Given the description of an element on the screen output the (x, y) to click on. 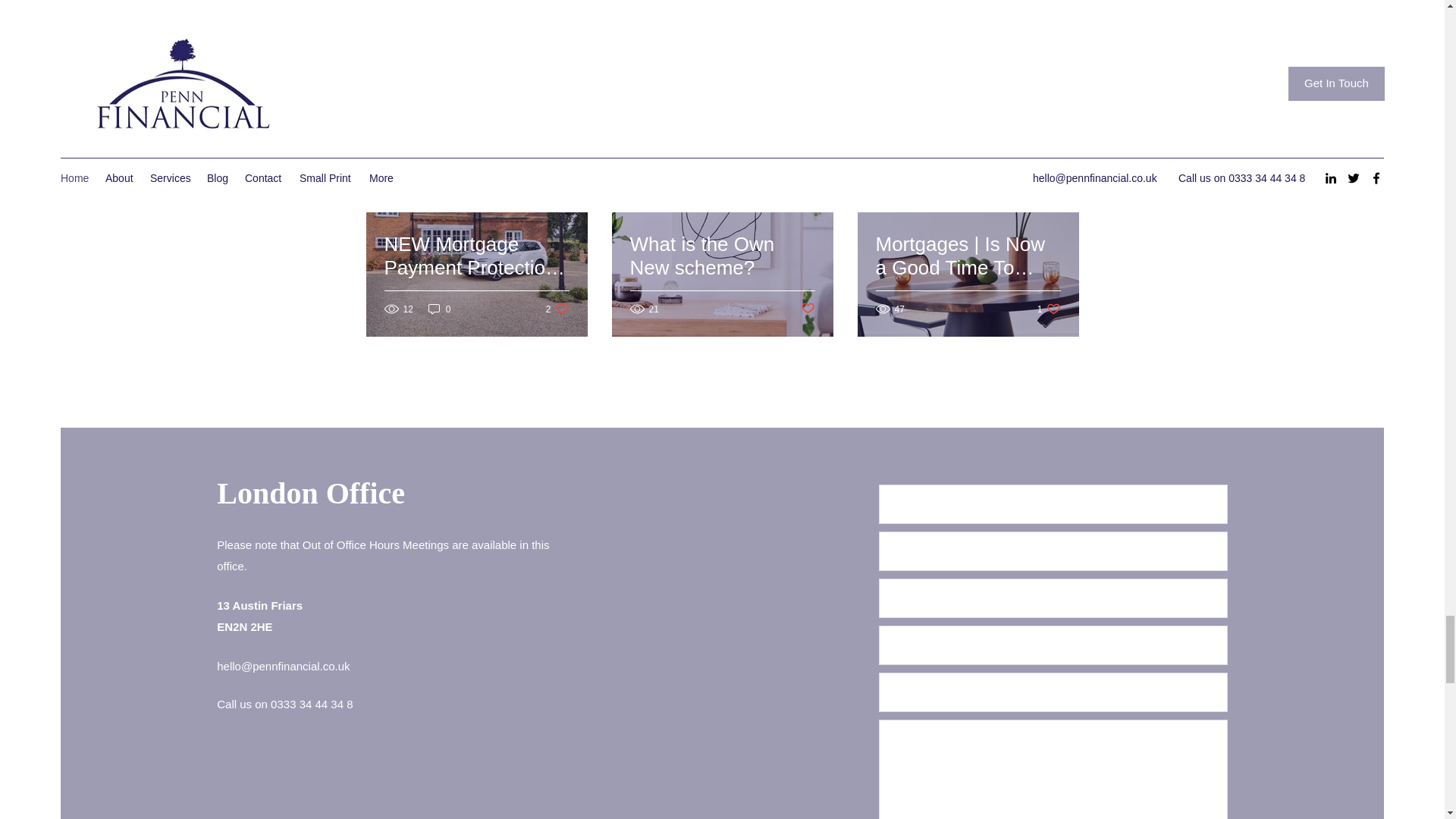
1 min (681, 148)
Apr 10 (642, 148)
2 min (438, 148)
Jul 25, 2023 (899, 148)
May 10 (398, 148)
2 min (949, 148)
